Given the description of an element on the screen output the (x, y) to click on. 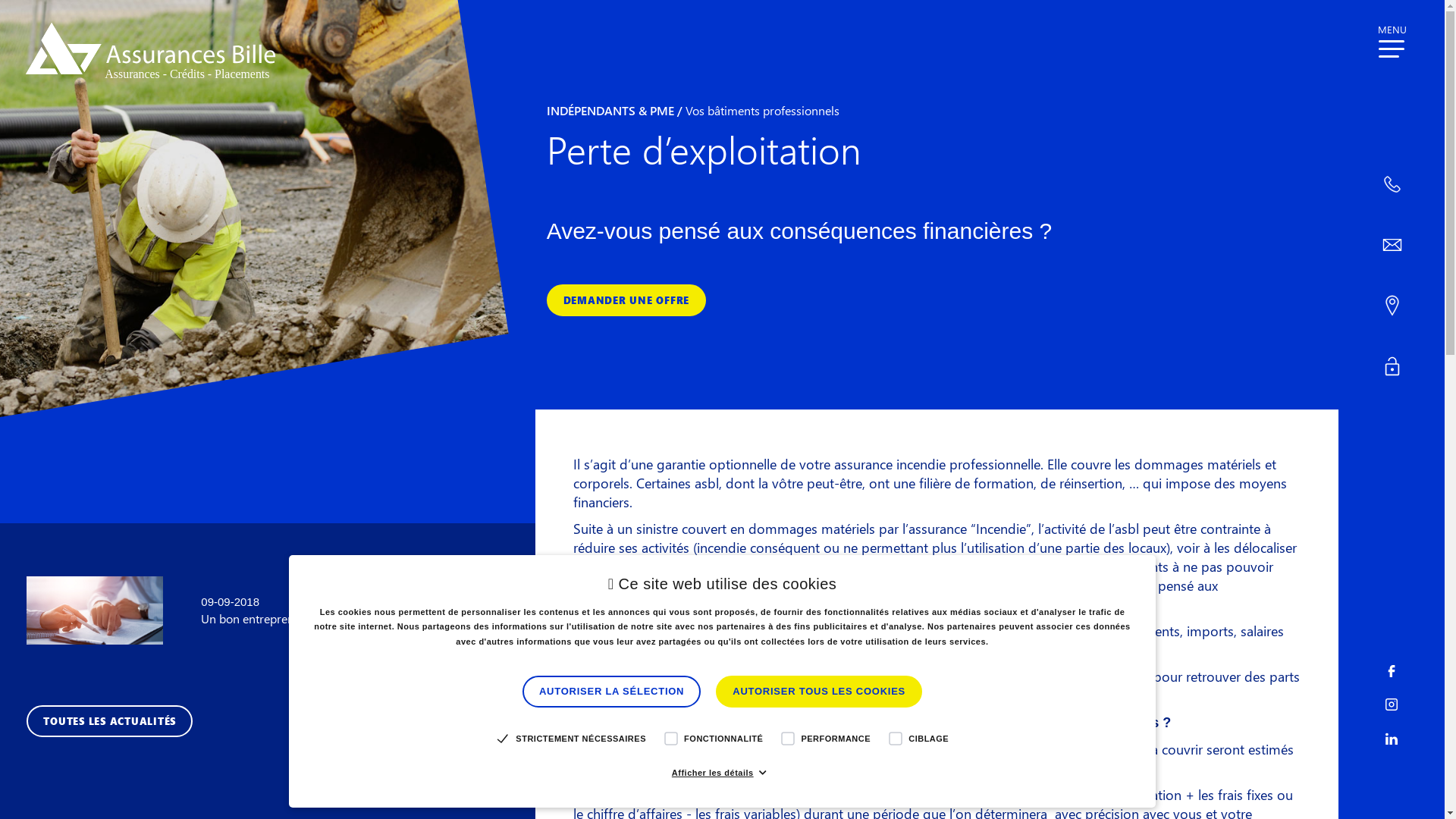
MENU Element type: text (1391, 48)
Suivez Assurances Bille sur Instagram Element type: hover (1391, 714)
AUTORISER TOUS LES COOKIES Element type: text (818, 691)
09-09-2018
Un bon entrepreneur se couvre bien Element type: text (253, 610)
DEMANDER UNE OFFRE Element type: text (626, 300)
Suivez Assurances Bille sur Facebook Element type: hover (1391, 681)
Suivez Assurances Bille sur Linkedin Element type: hover (1391, 748)
